Given the description of an element on the screen output the (x, y) to click on. 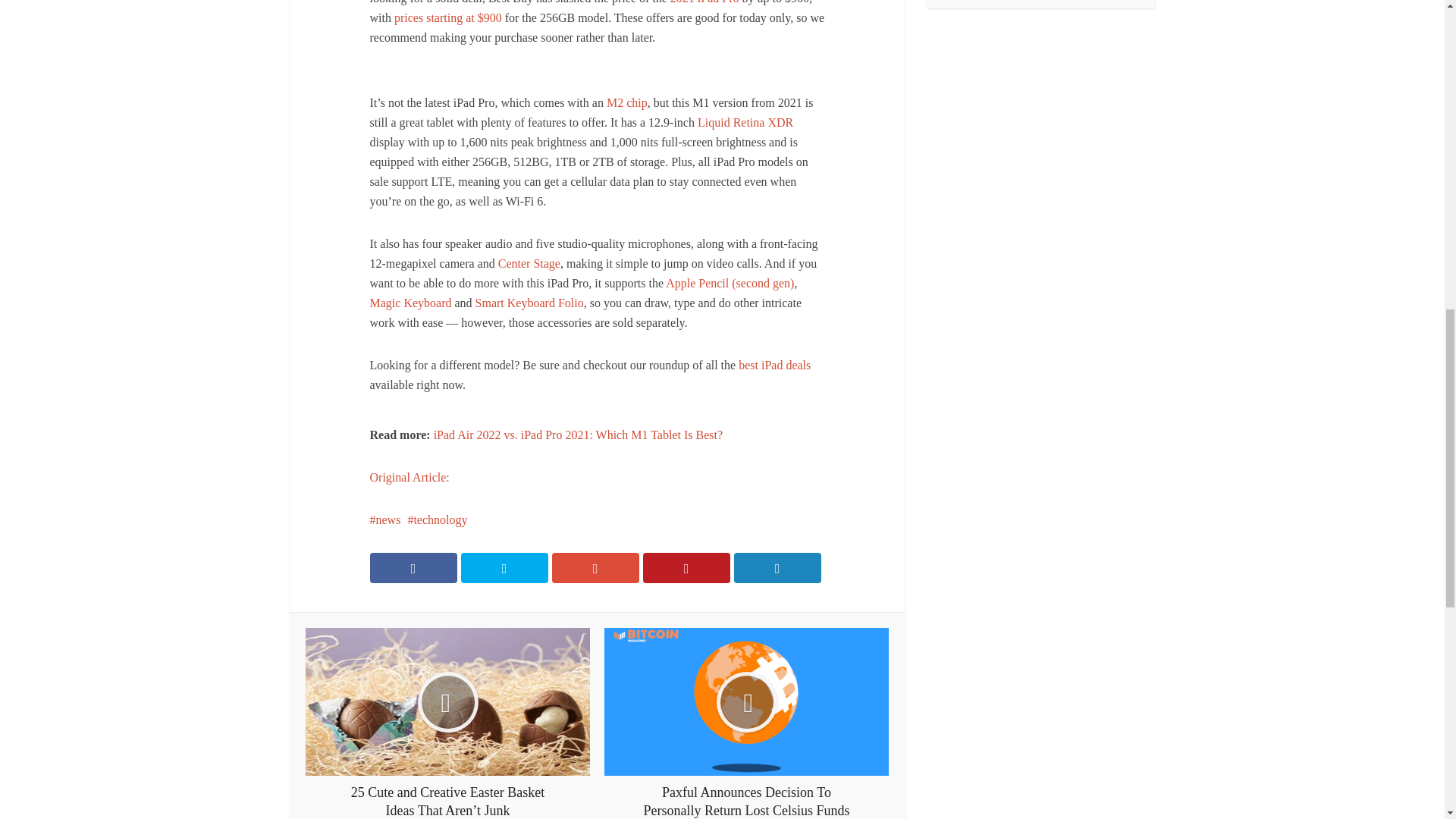
M2 chip (627, 102)
Center Stage (528, 263)
2021 iPad Pro (704, 2)
iPad Air 2022 vs. iPad Pro 2021: Which M1 Tablet Is Best? (577, 434)
Liquid Retina XDR (745, 122)
Magic Keyboard (410, 302)
technology (437, 519)
Smart Keyboard Folio (529, 302)
best iPad deals (774, 364)
Original Article: (409, 477)
